Given the description of an element on the screen output the (x, y) to click on. 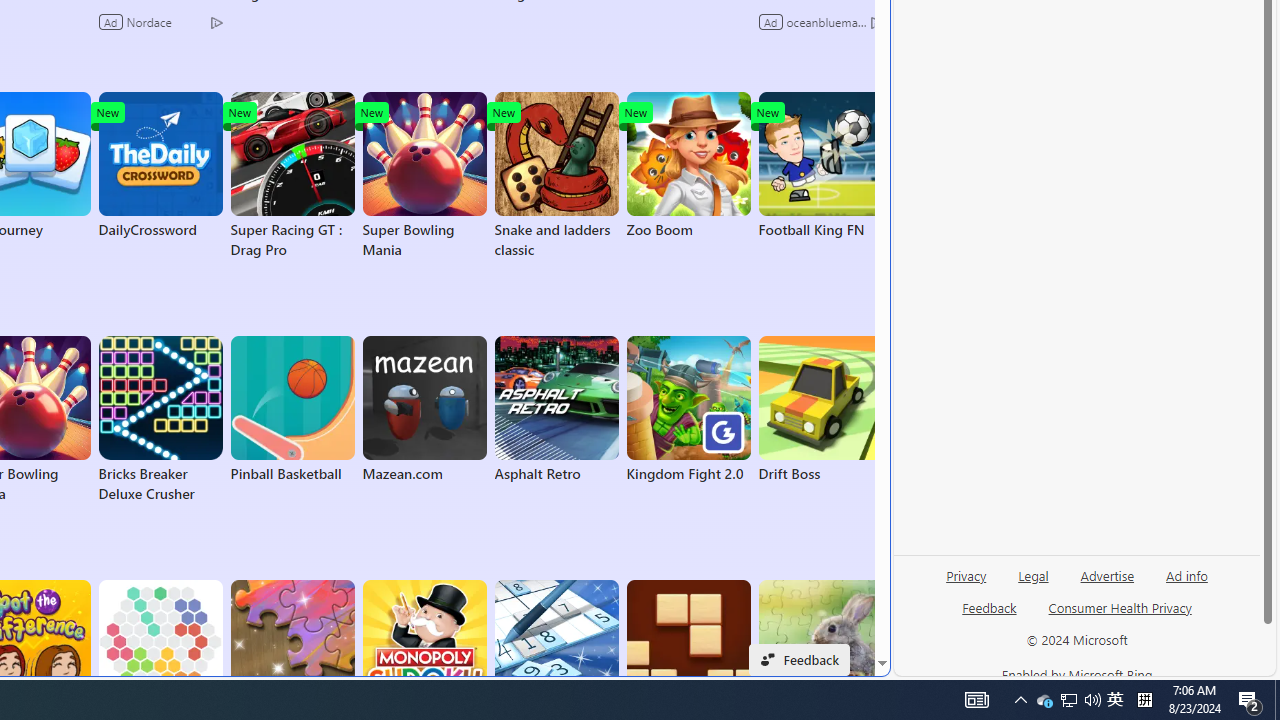
Class: ad-choice  ad-choice-mono  (876, 21)
Pinball Basketball (292, 409)
DailyCrossword (160, 165)
Super Racing GT : Drag Pro (292, 175)
Asphalt Retro (556, 409)
Zoo Boom (688, 165)
